Given the description of an element on the screen output the (x, y) to click on. 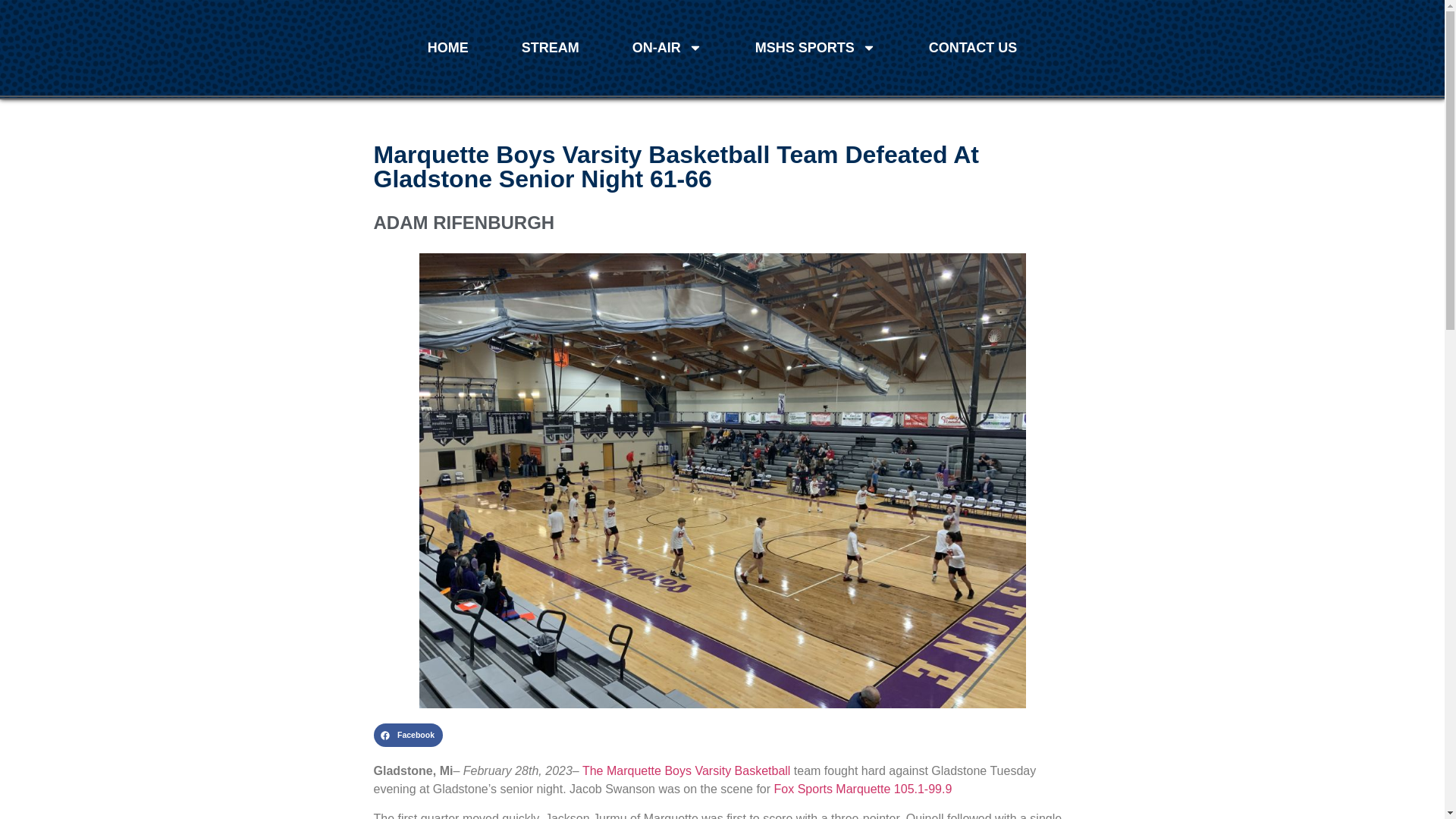
The Marquette Boys Varsity Basketball (686, 770)
Fox Sports Marquette 105.1-99.9 (861, 788)
MSHS SPORTS (815, 47)
HOME (448, 47)
ADAM RIFENBURGH (721, 223)
ON-AIR (667, 47)
CONTACT US (972, 47)
STREAM (550, 47)
